Given the description of an element on the screen output the (x, y) to click on. 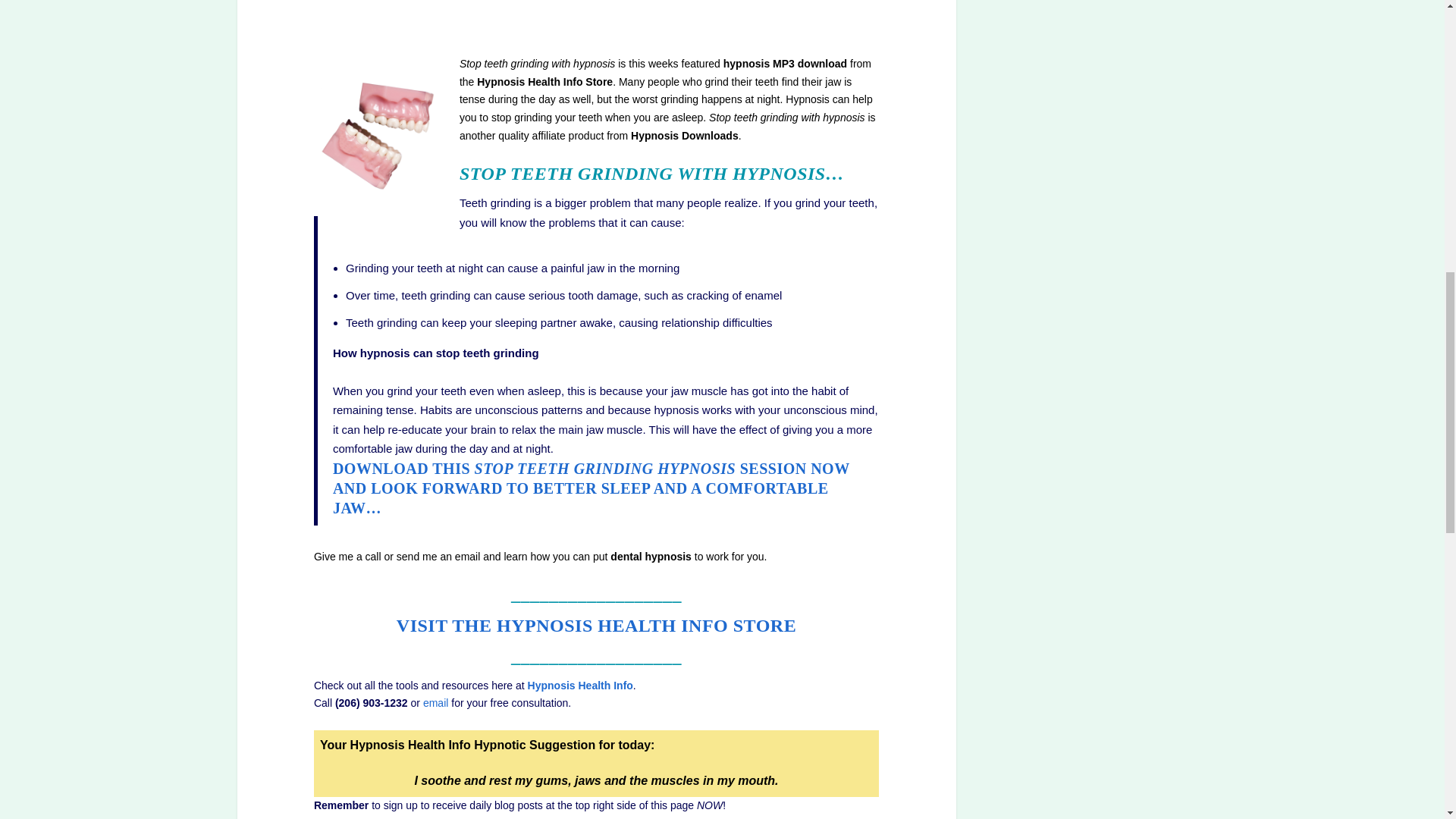
Stop teeth grinding with hypnosis (590, 488)
Hypnosis Health Info Store (596, 625)
Hypnosis Health Info (580, 685)
